Given the description of an element on the screen output the (x, y) to click on. 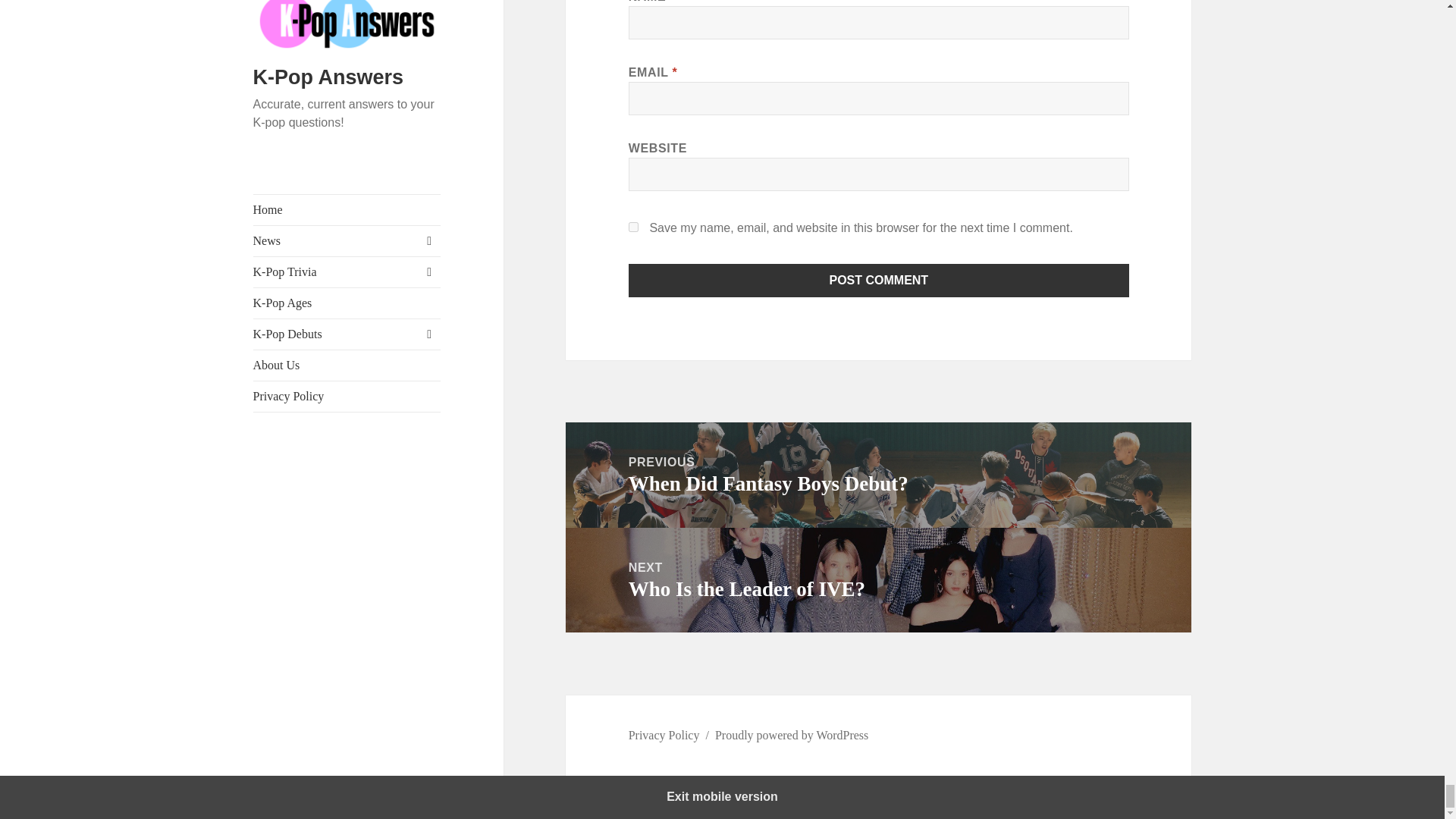
Post Comment (878, 280)
yes (633, 226)
